Given the description of an element on the screen output the (x, y) to click on. 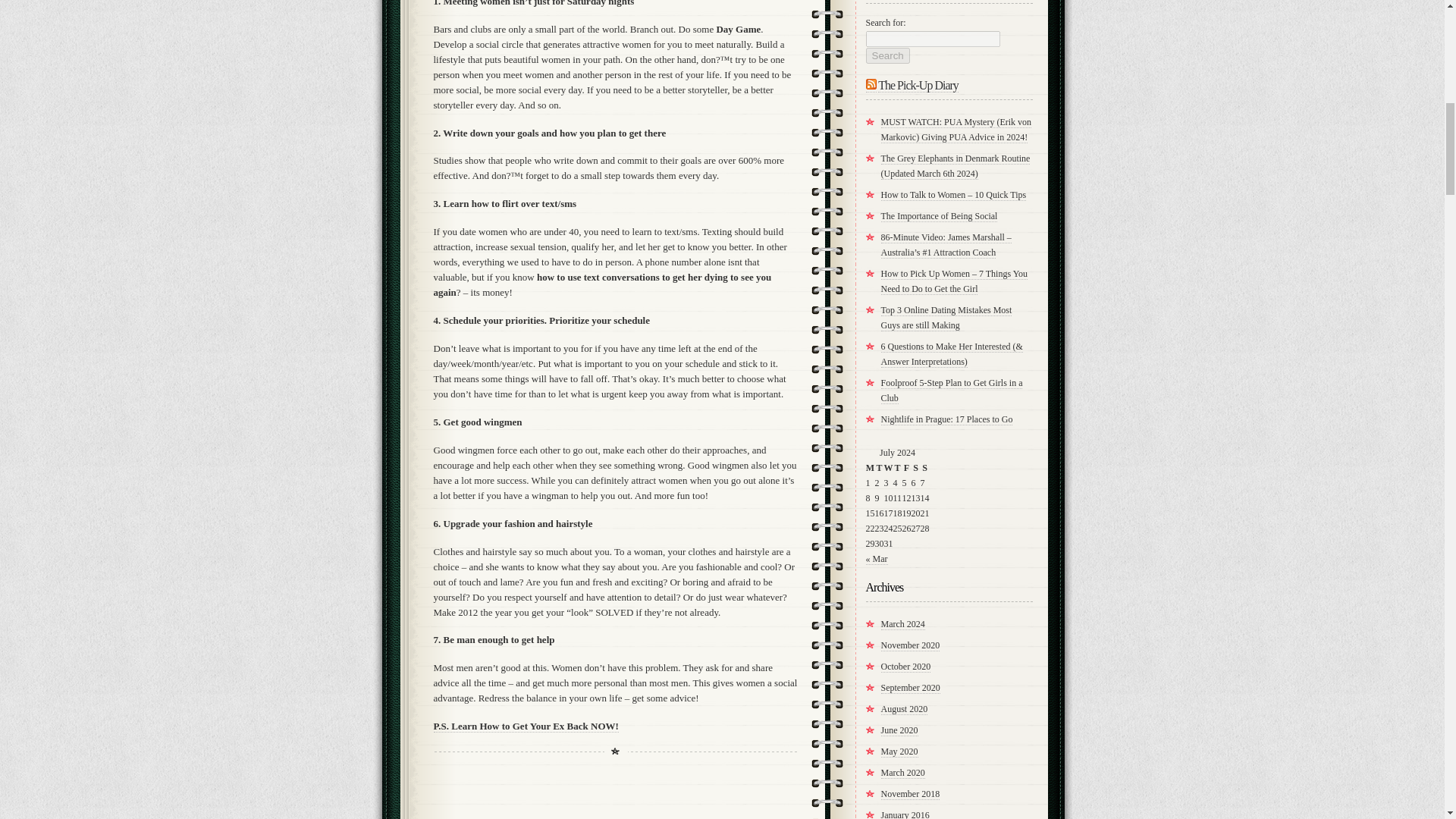
The Importance of Being Social (938, 215)
P.S. Learn How to Get Your Ex Back NOW! (525, 726)
The Pick-Up Diary (917, 85)
Search (888, 55)
Search (888, 55)
